Given the description of an element on the screen output the (x, y) to click on. 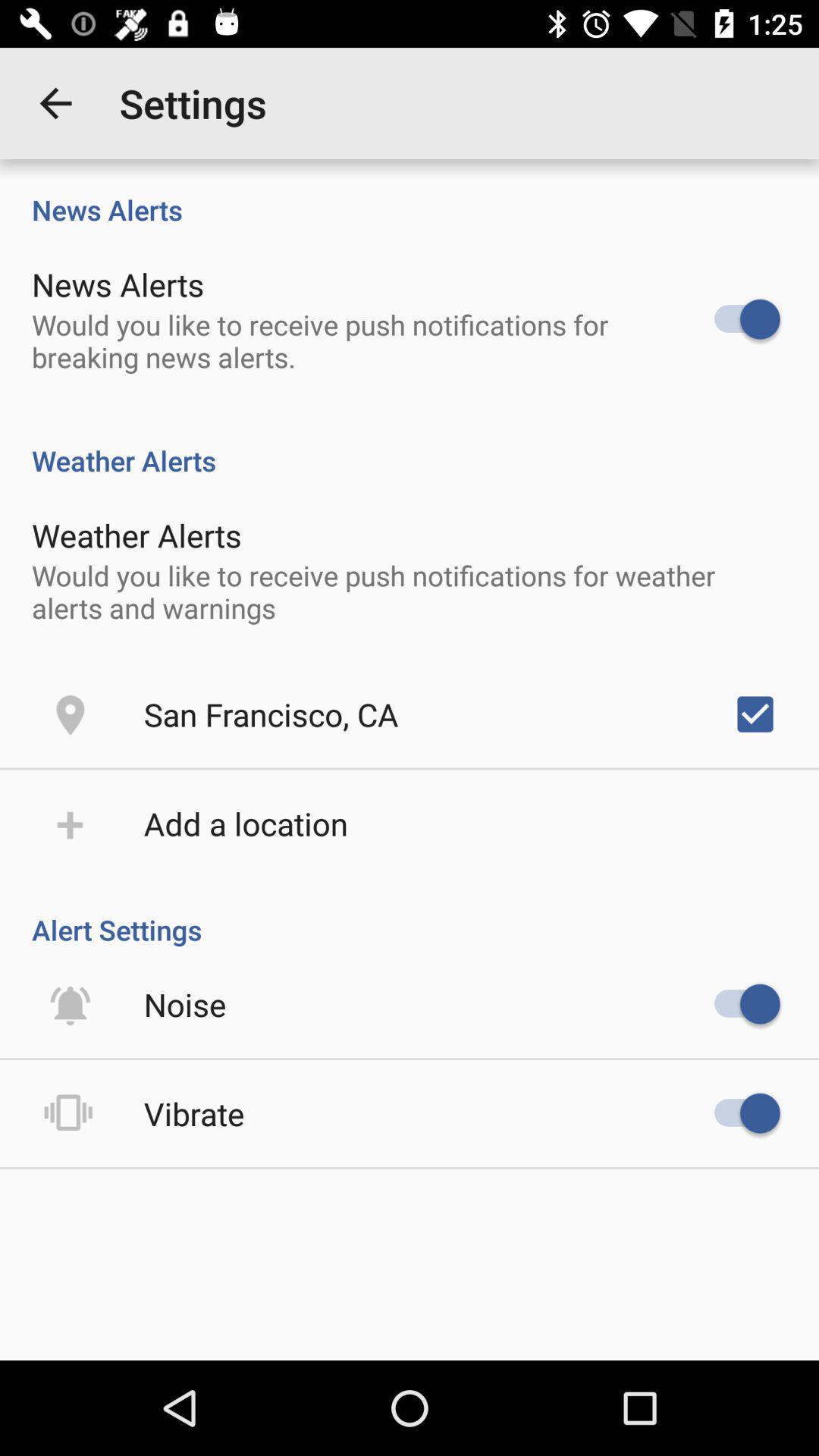
launch the icon above add a location item (270, 713)
